Given the description of an element on the screen output the (x, y) to click on. 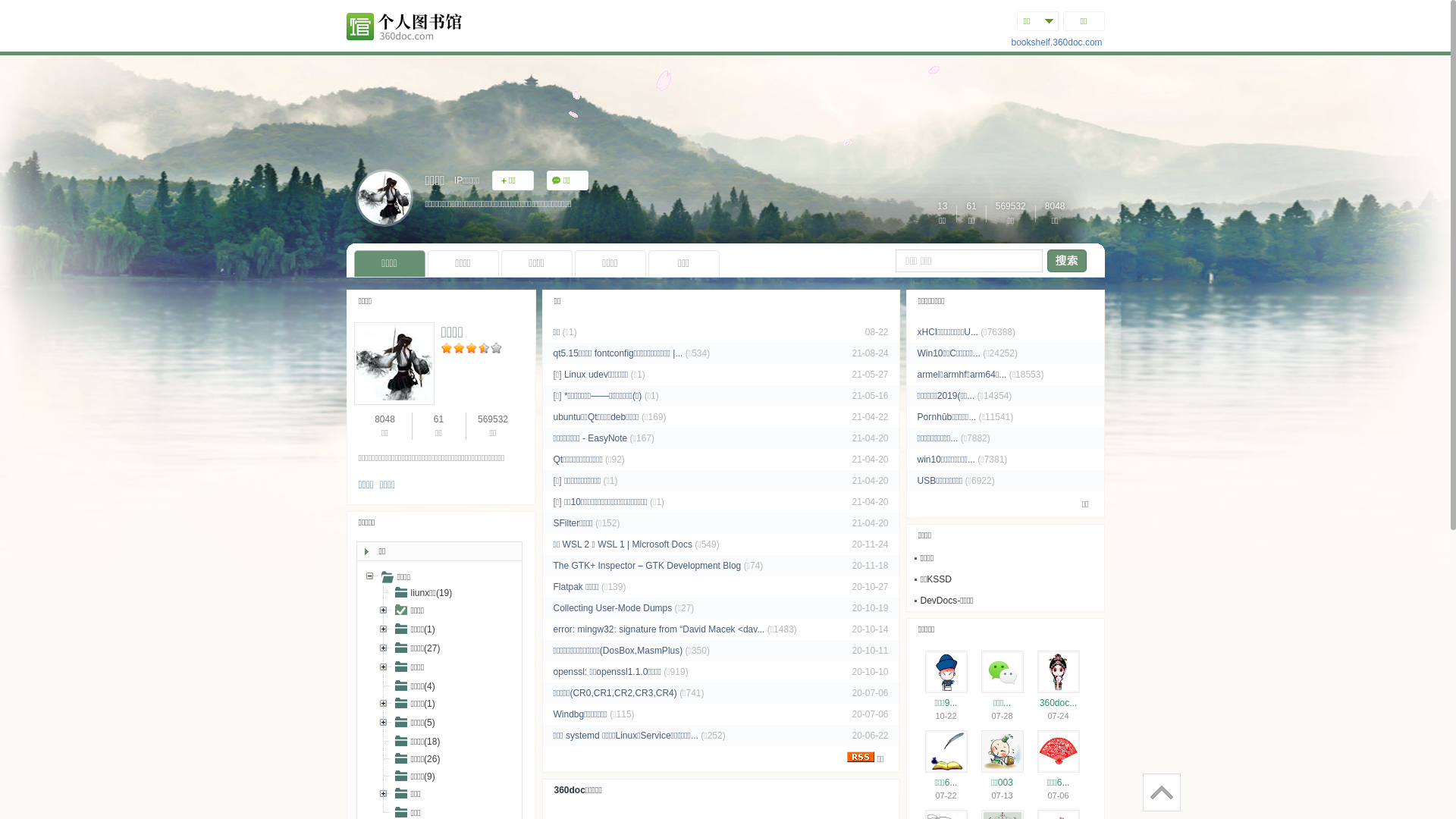
360doc... Element type: text (1057, 702)
Collecting User-Mode Dumps Element type: text (612, 607)
bookshelf.360doc.com Element type: text (1056, 42)
